Given the description of an element on the screen output the (x, y) to click on. 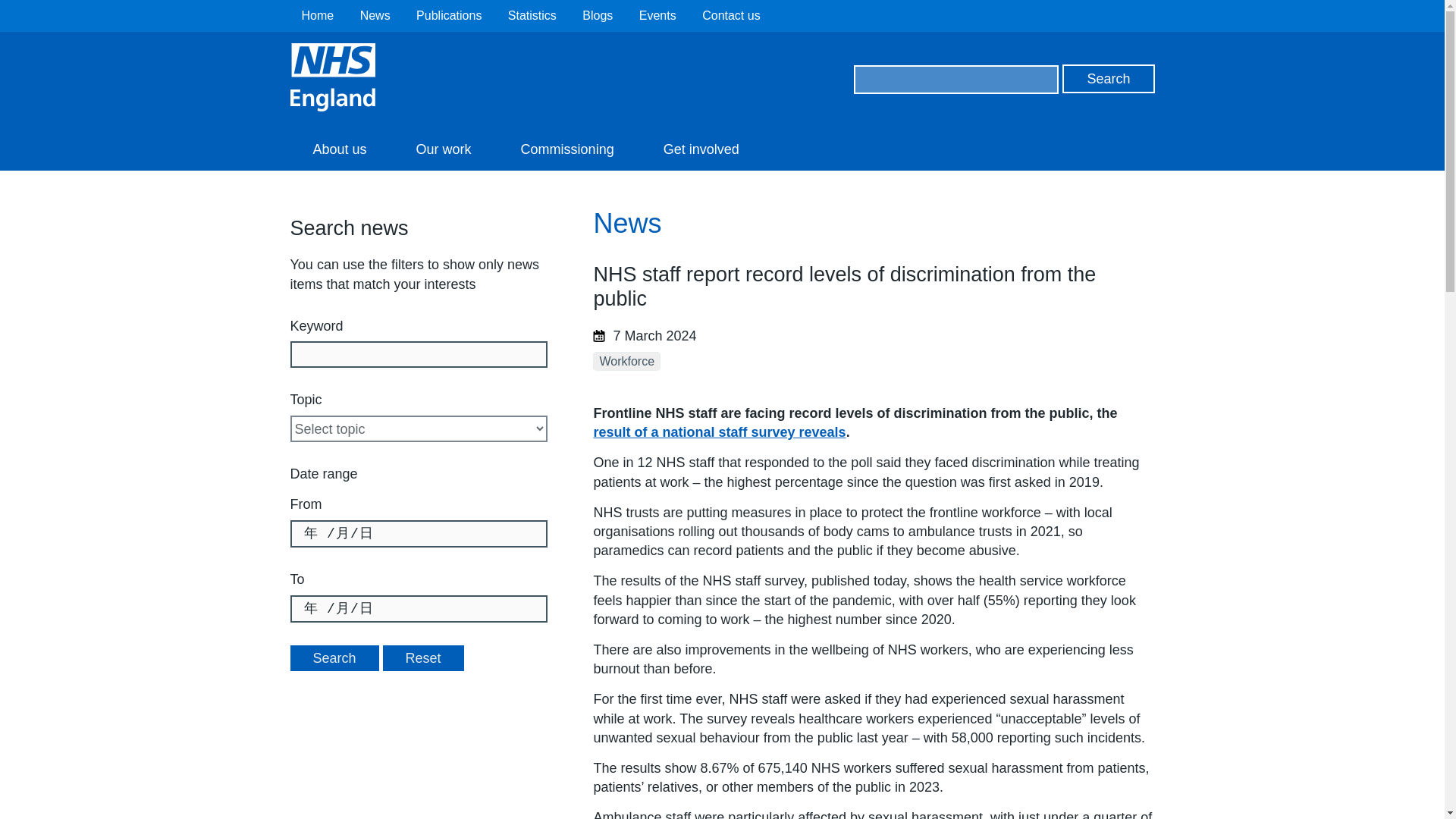
News (374, 15)
Blogs (597, 15)
Statistics (532, 15)
Publications (448, 15)
Publications (448, 15)
Home (317, 15)
Workforce (626, 361)
Search (1108, 78)
About us (338, 149)
News (374, 15)
